Given the description of an element on the screen output the (x, y) to click on. 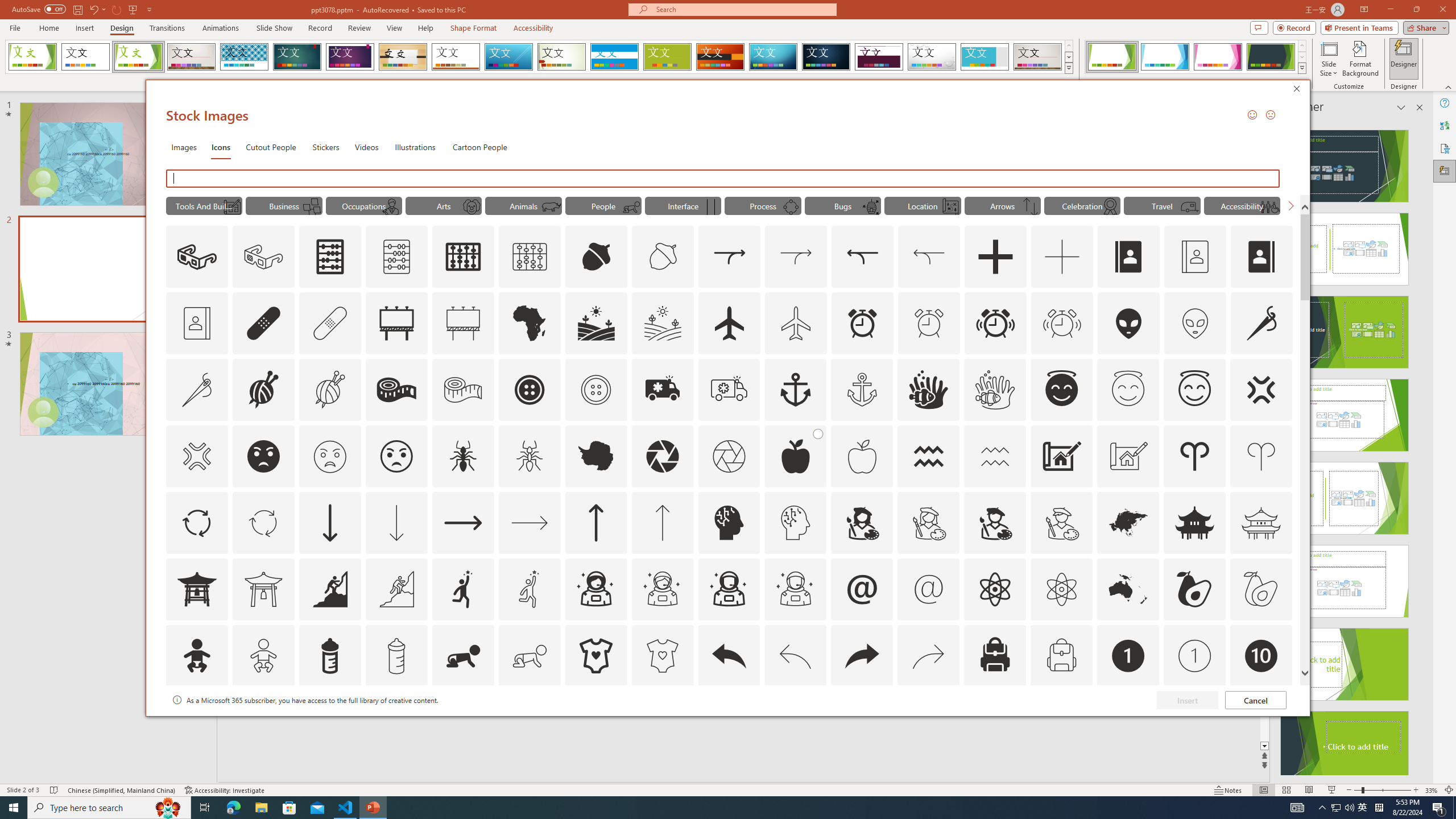
AutomationID: Icons_Acquisition_RTL_M (928, 256)
AutomationID: Icons_ArrowCircle (196, 522)
AutomationID: Icons_Badge1 (1128, 655)
AutomationID: Icons_AngelFace_M (1128, 389)
AutomationID: Icons_Agriculture_M (663, 323)
AutomationID: Icons_Aries_M (1260, 455)
AutomationID: Icons_Badge7 (928, 721)
